Given the description of an element on the screen output the (x, y) to click on. 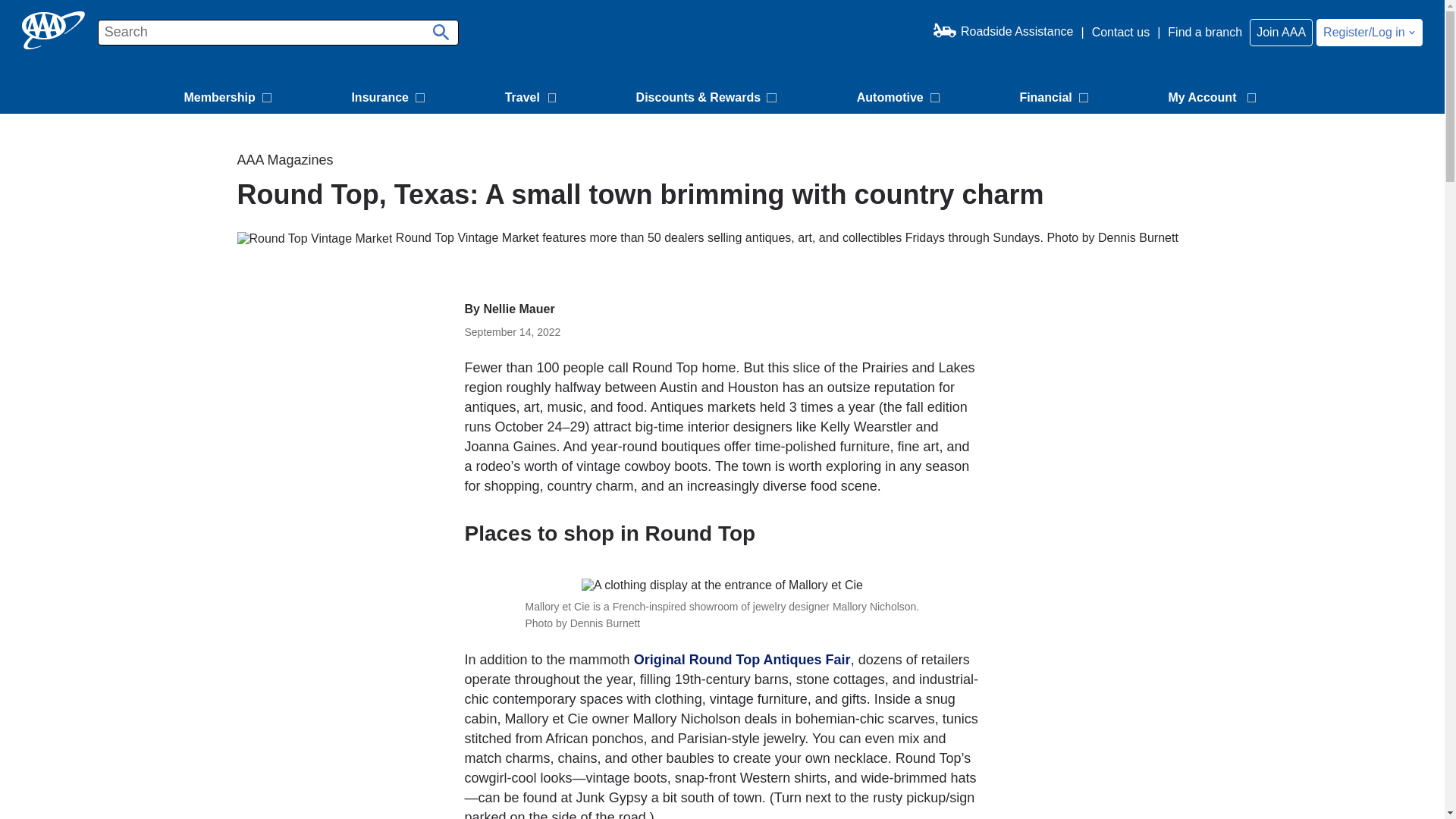
Join AAA (1281, 31)
Roadside Assistance (1002, 31)
Contact us (1120, 31)
Original Round Top Antiques Fair (741, 659)
Automotive (900, 98)
Insurance (389, 98)
Find a branch (1204, 31)
Travel (532, 98)
Financial (1055, 98)
My Account (1214, 98)
Automobile Club logo (52, 30)
Membership (229, 98)
Type search word (277, 32)
Search (438, 26)
